Given the description of an element on the screen output the (x, y) to click on. 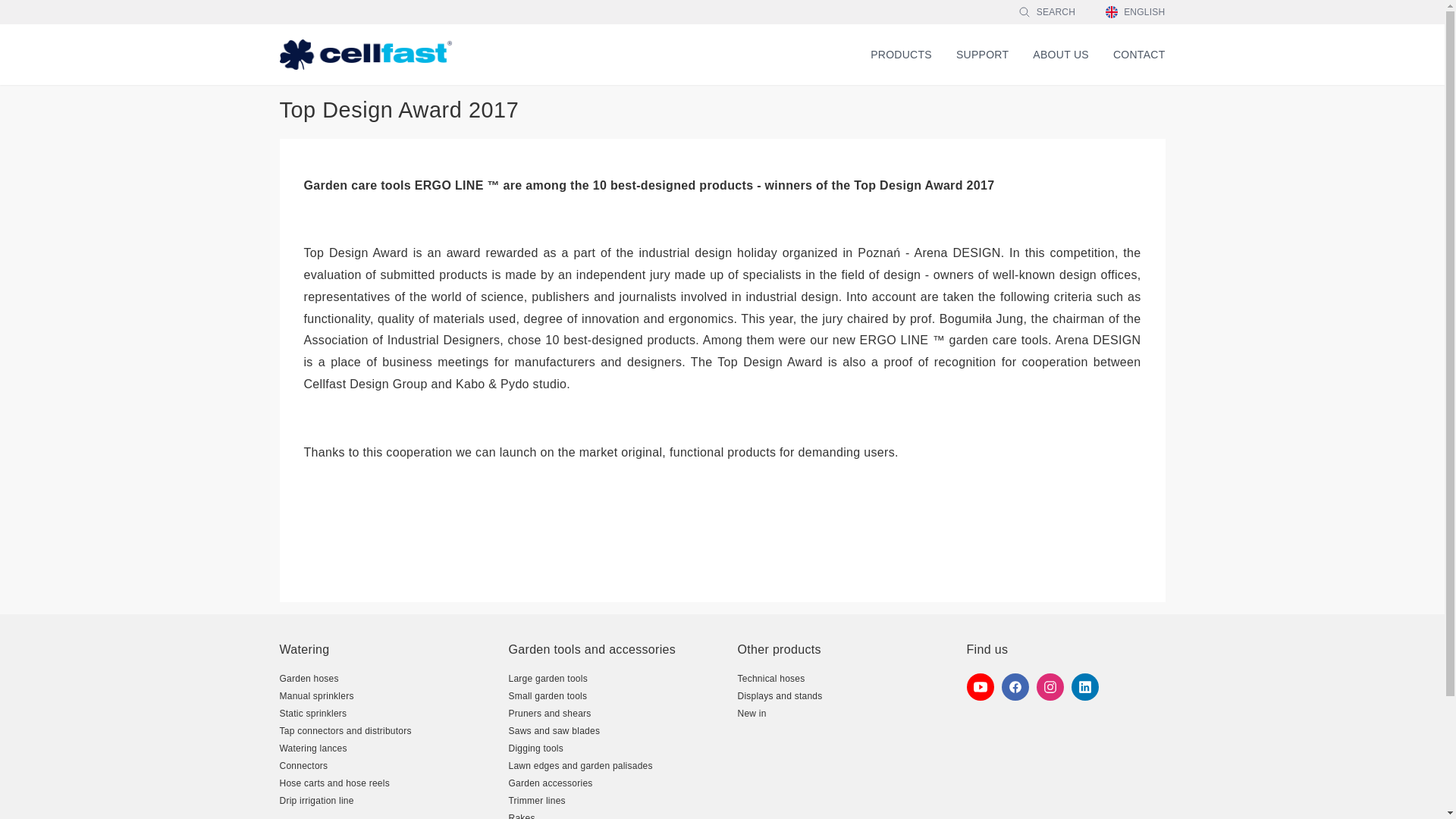
Static sprinklers (312, 713)
Drip irrigation line (316, 800)
Connectors (303, 765)
Watering lances (312, 747)
Digging tools (535, 747)
Tap connectors and distributors (344, 730)
SEARCH (1046, 11)
ABOUT US (1060, 54)
Manual sprinklers (316, 696)
CONTACT (1139, 54)
PRODUCTS (900, 54)
Hose carts and hose reels (333, 783)
CELLFAST (365, 54)
Garden hoses (308, 678)
Saws and saw blades (553, 730)
